Given the description of an element on the screen output the (x, y) to click on. 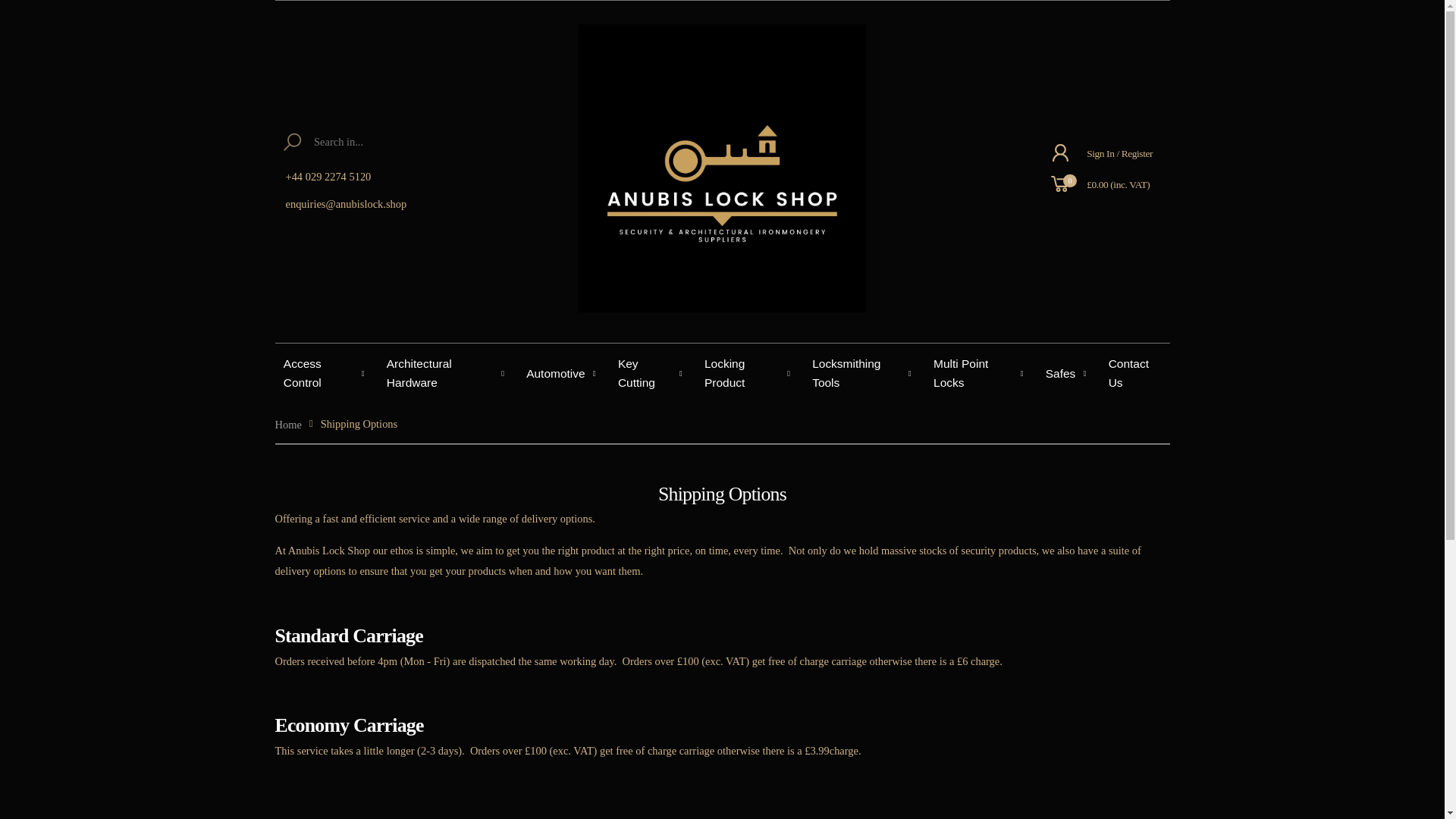
Home (288, 423)
Access Control (326, 373)
